Given the description of an element on the screen output the (x, y) to click on. 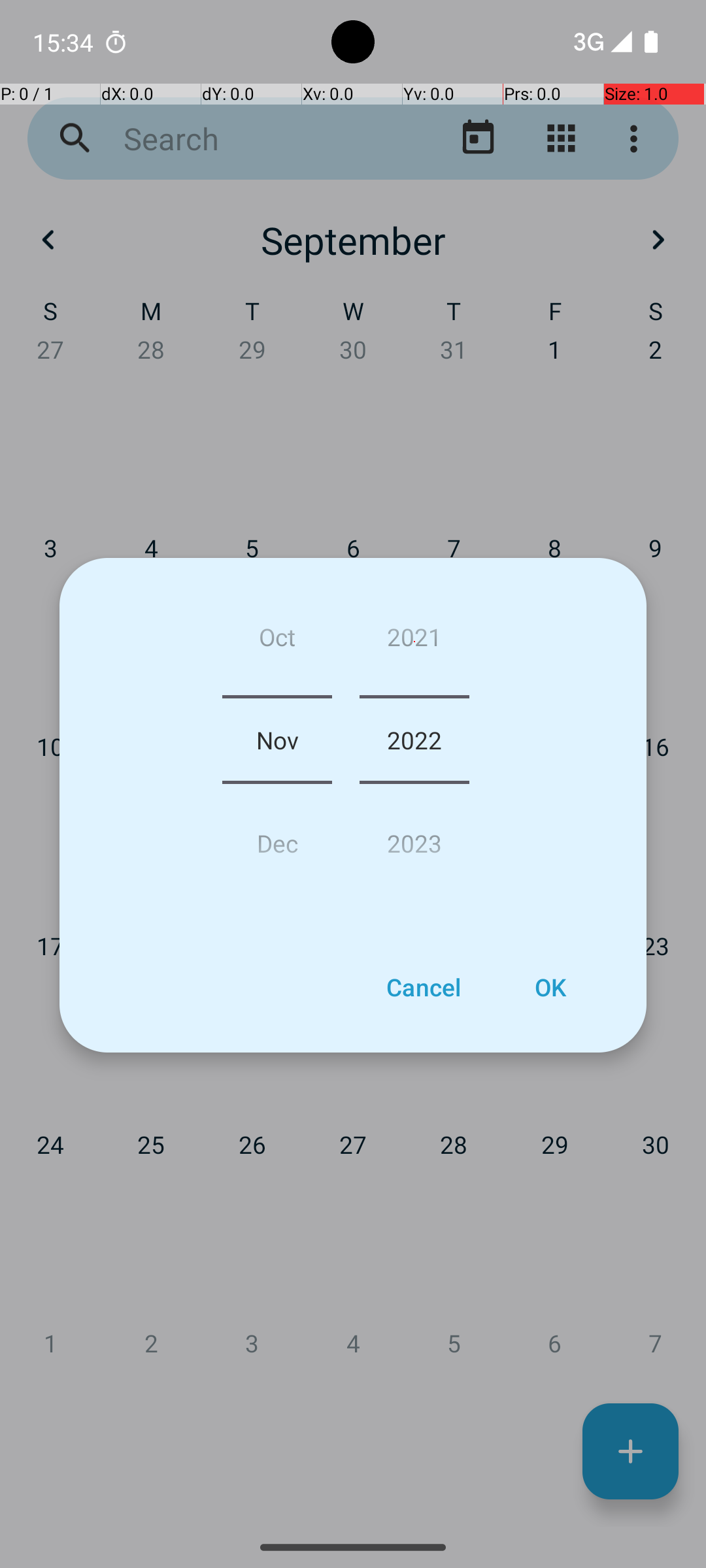
Dec Element type: android.widget.Button (277, 837)
